Given the description of an element on the screen output the (x, y) to click on. 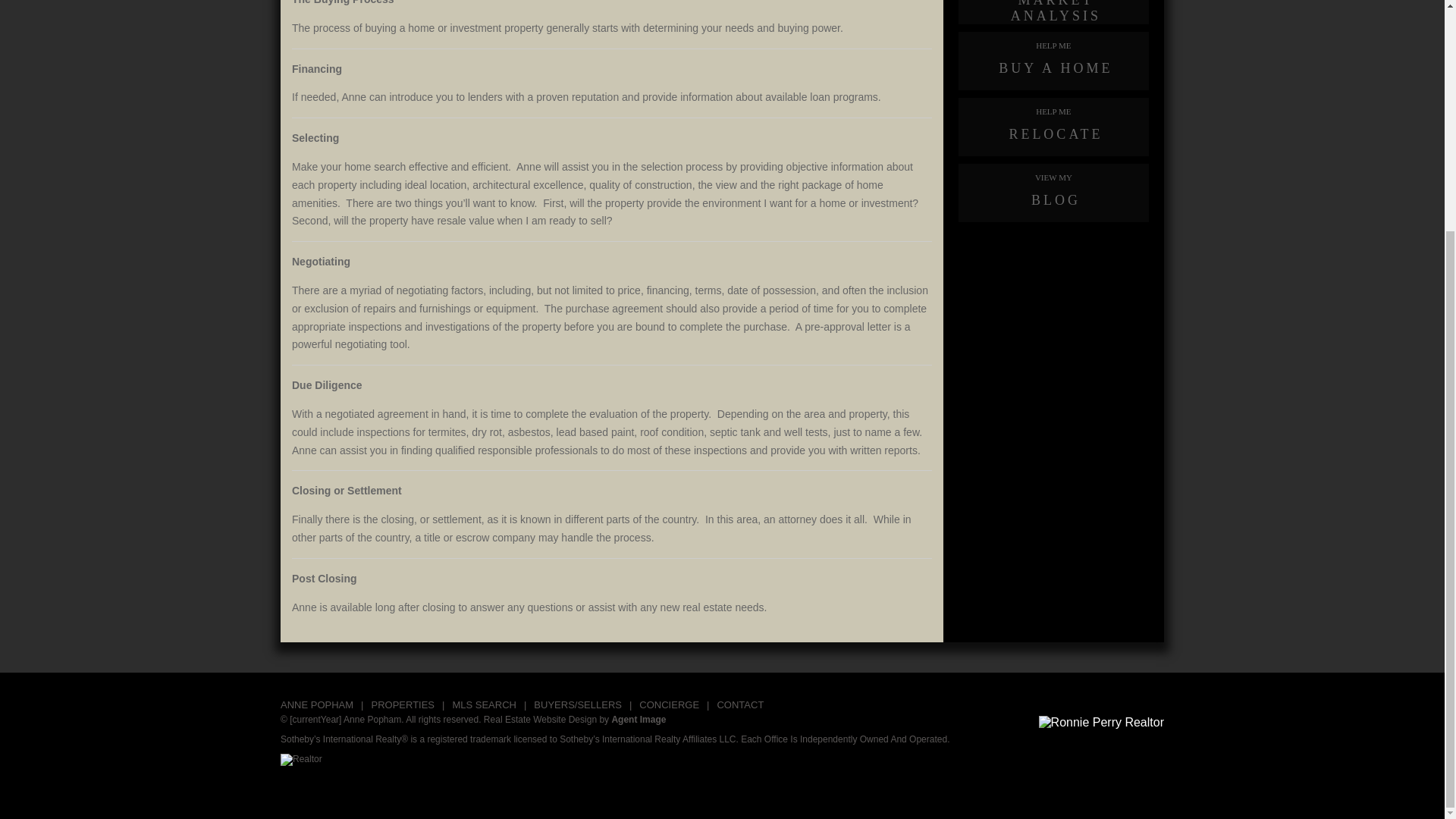
CONCIERGE (668, 704)
MLS SEARCH (483, 704)
Agent Image (638, 719)
CONTACT (739, 704)
PROPERTIES (402, 704)
ANNE POPHAM (317, 704)
